Given the description of an element on the screen output the (x, y) to click on. 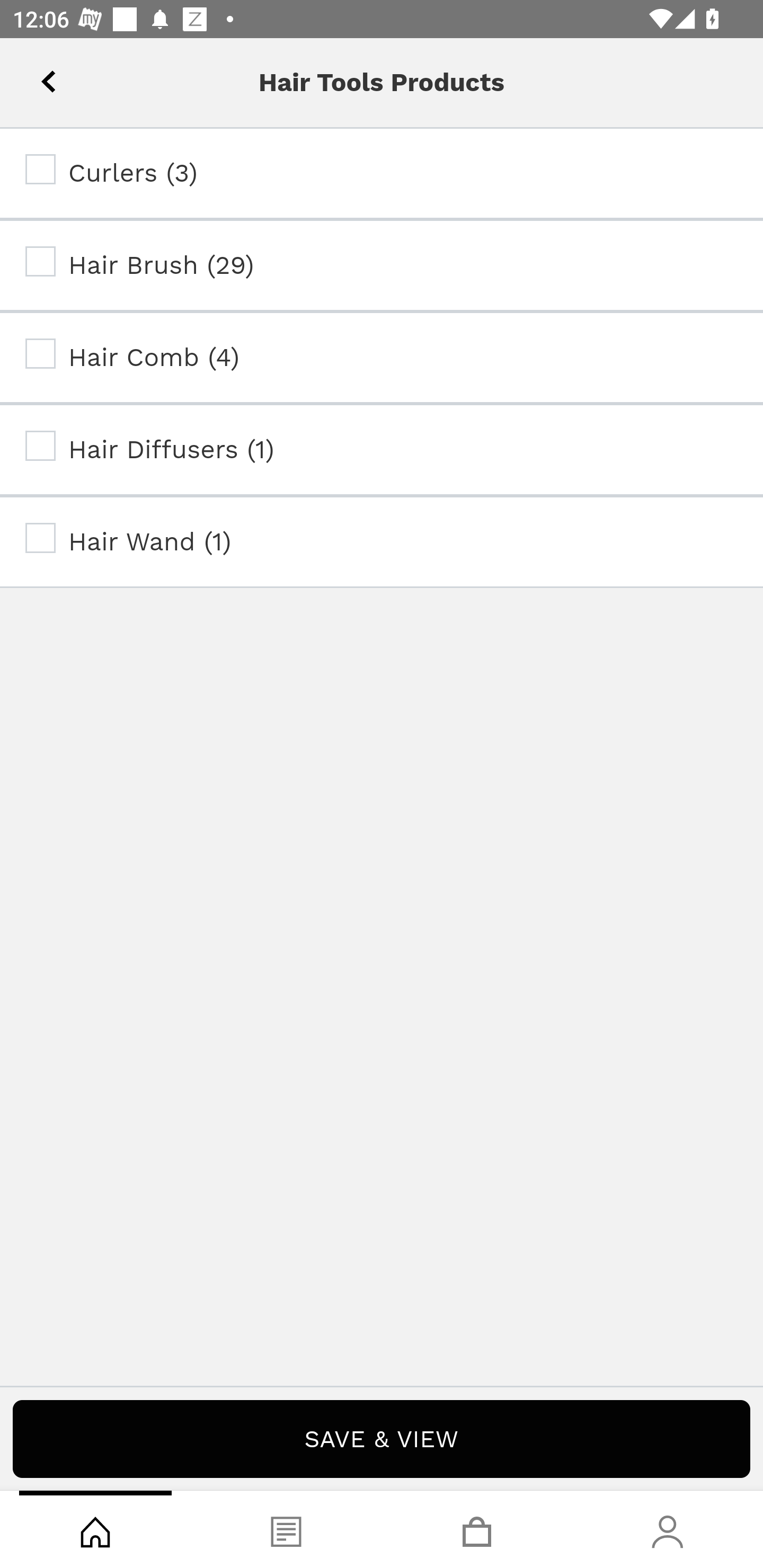
Open Menu (38, 75)
Lookfantastic USA (381, 75)
Shop, tab, 1 of 4 (95, 1529)
Blog, tab, 2 of 4 (285, 1529)
Basket, tab, 3 of 4 (476, 1529)
Account, tab, 4 of 4 (667, 1529)
